Given the description of an element on the screen output the (x, y) to click on. 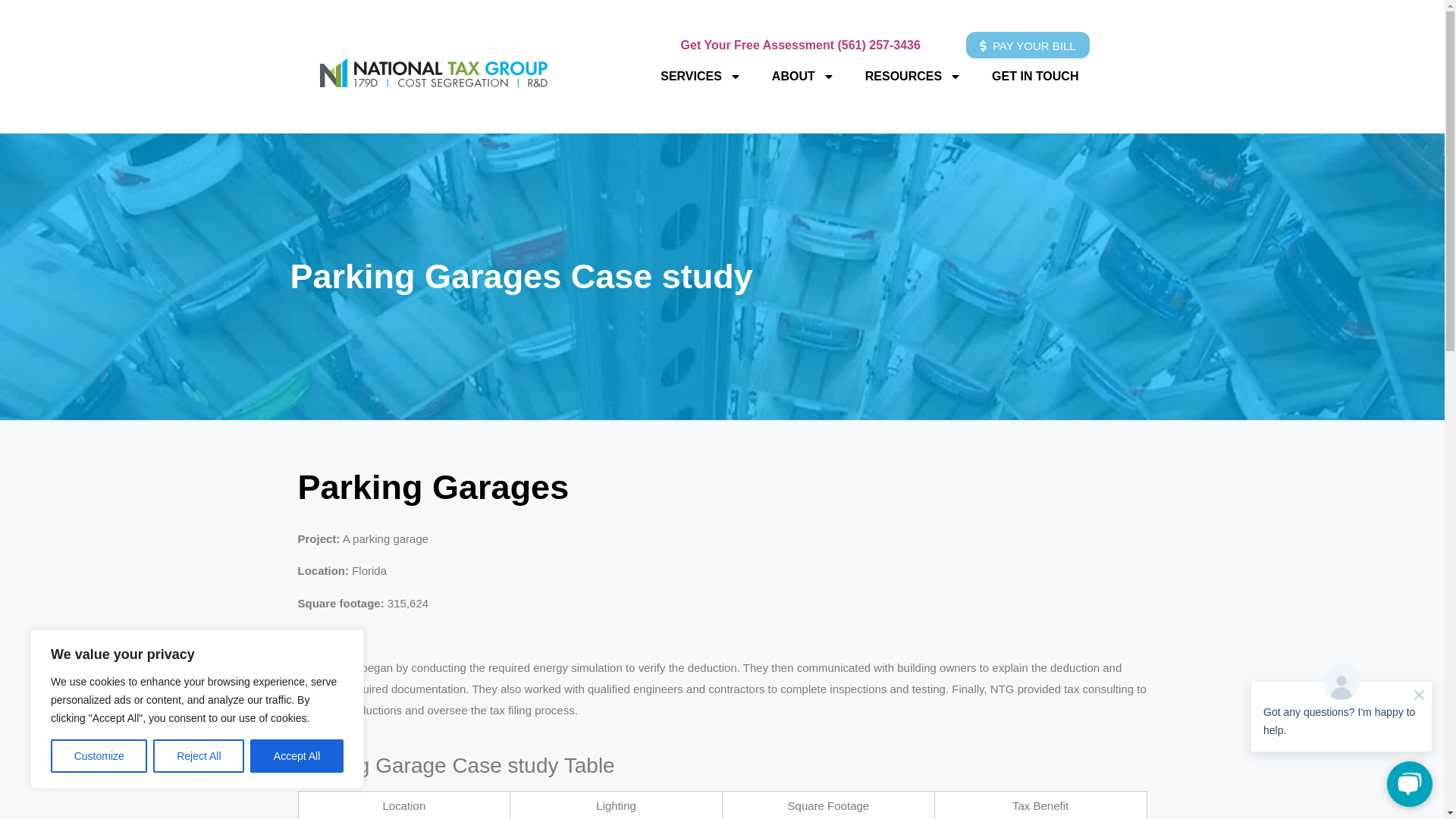
SERVICES (701, 76)
PAY YOUR BILL (1027, 44)
Accept All (296, 756)
Customize (98, 756)
ABOUT (803, 76)
Reject All (198, 756)
